Given the description of an element on the screen output the (x, y) to click on. 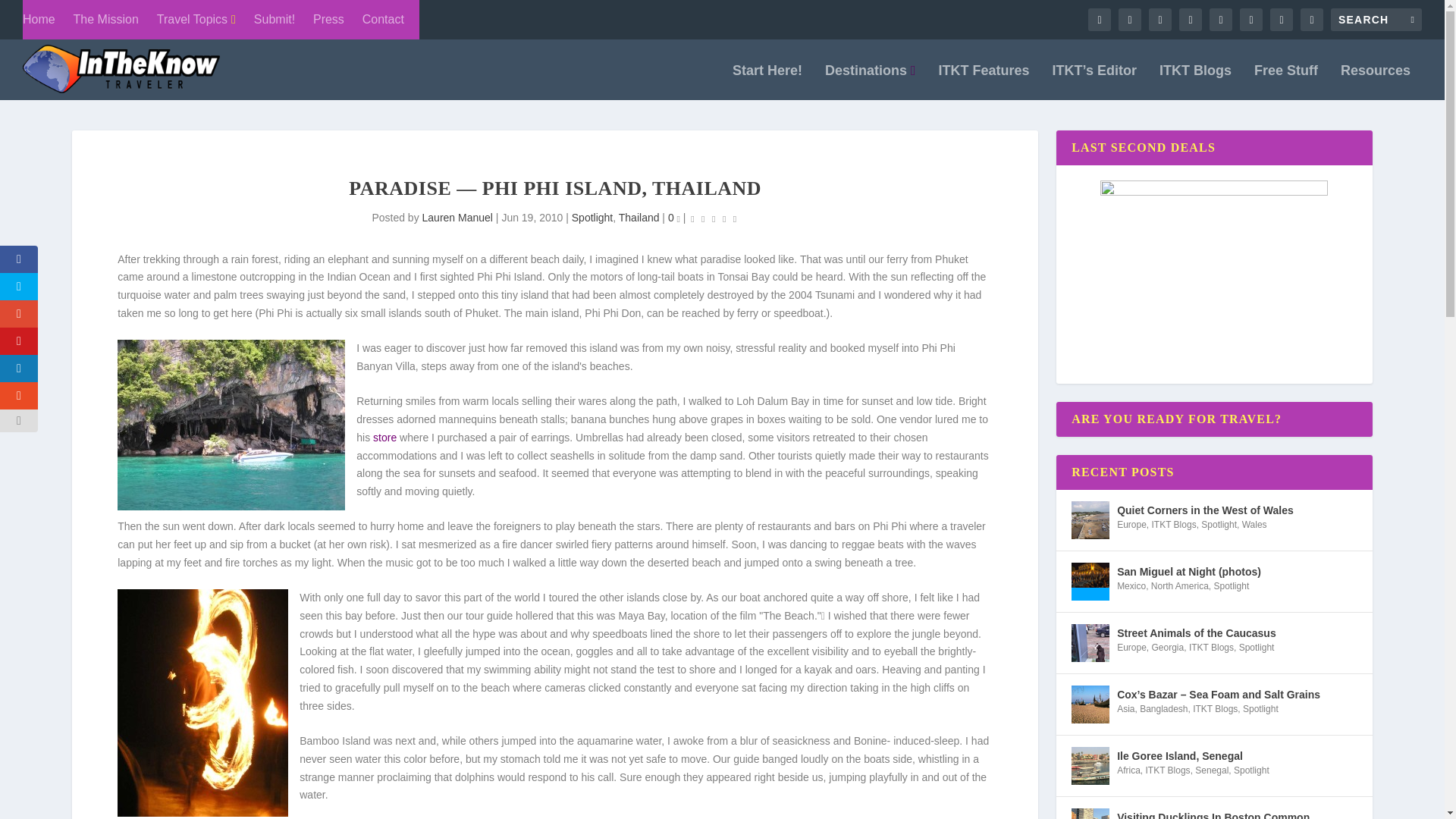
Submit! (274, 19)
phi-phi-LM-800 (231, 424)
Search for: (1376, 19)
Contact (383, 19)
Destinations (870, 81)
The Mission (106, 19)
Start Here! (767, 81)
Rating: 0.00 (713, 218)
Posts by Lauren Manuel (457, 217)
Travel Topics (196, 19)
